Given the description of an element on the screen output the (x, y) to click on. 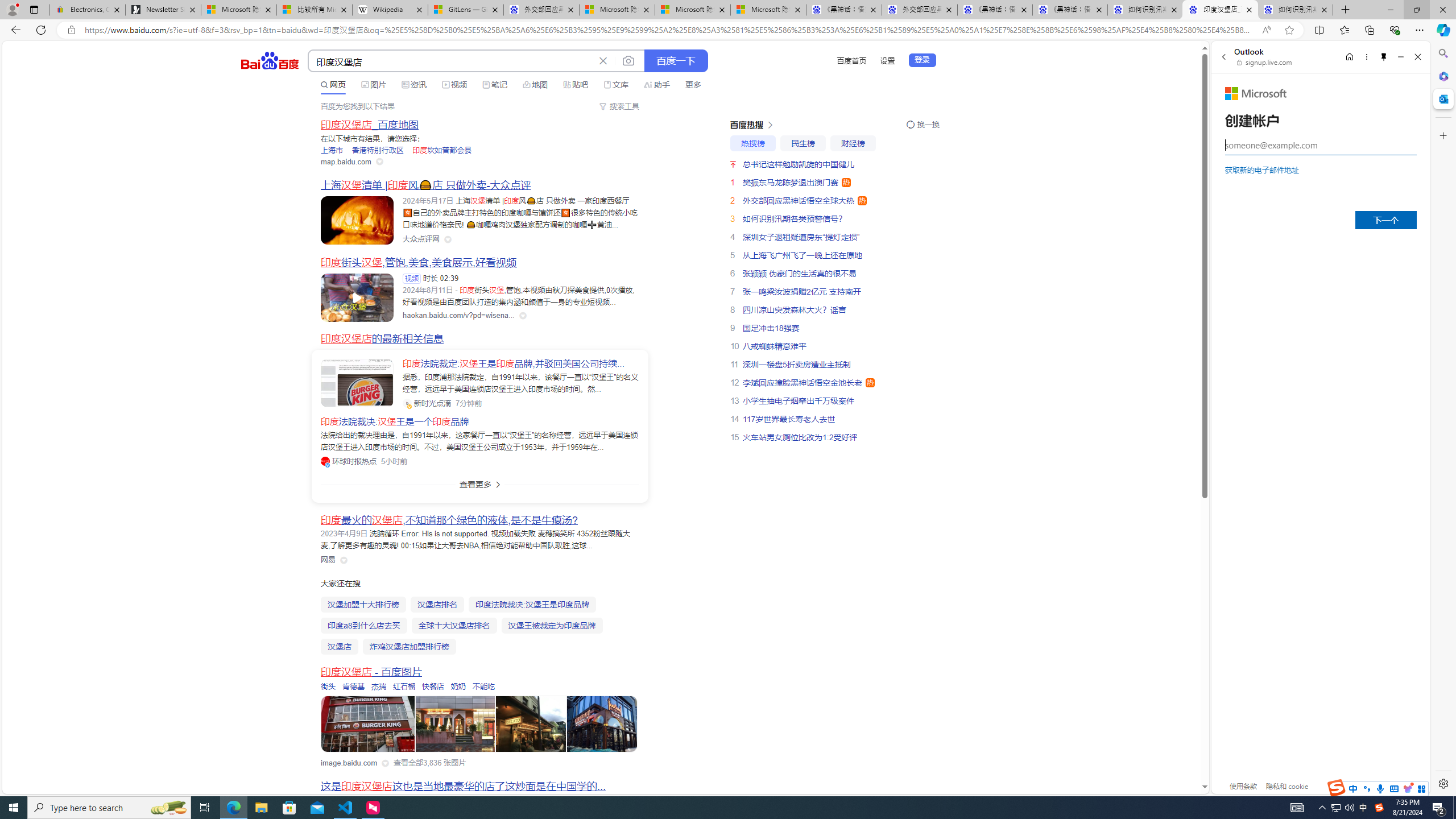
Class: c-img c-img-radius-large (356, 382)
Newsletter Sign Up (162, 9)
